Given the description of an element on the screen output the (x, y) to click on. 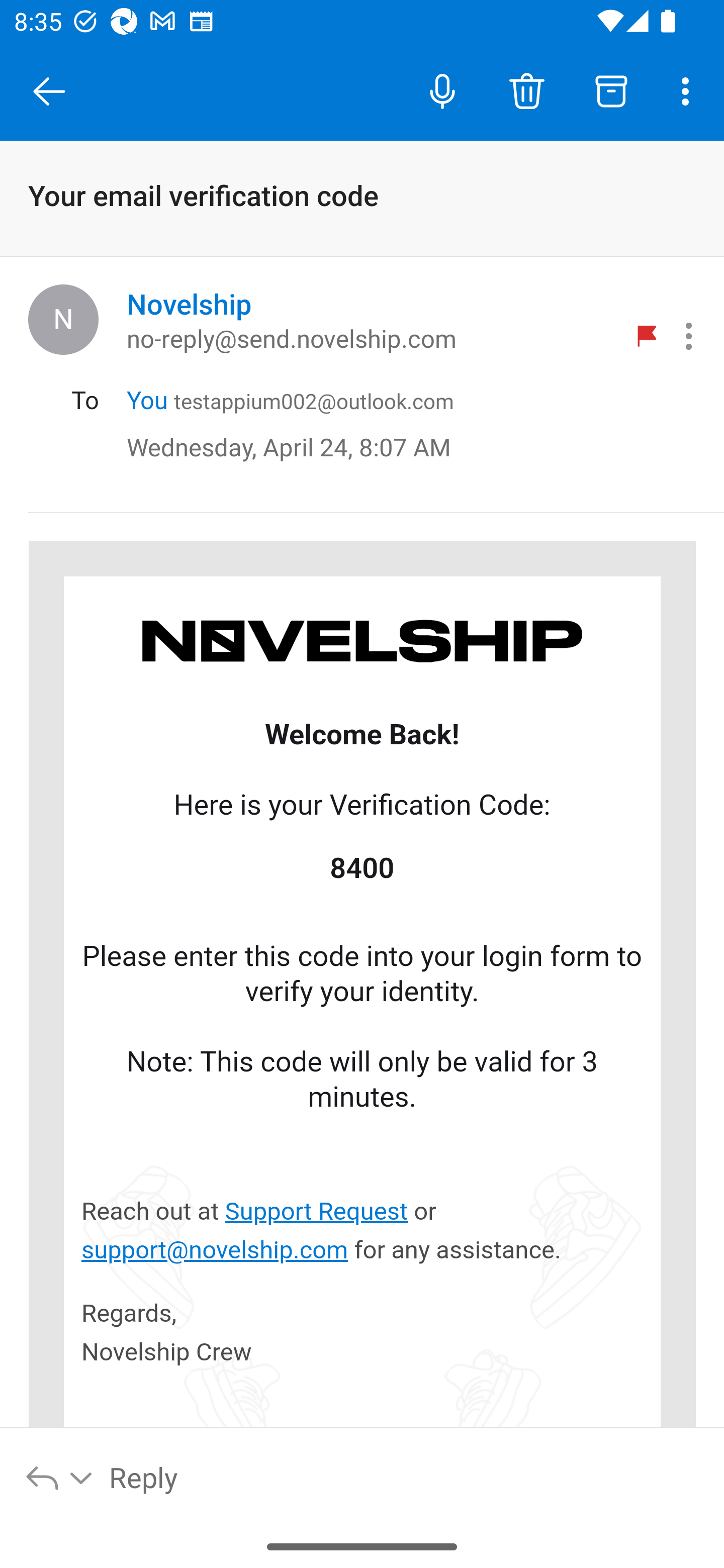
Close (49, 91)
Delete (526, 90)
Archive (611, 90)
More options (688, 90)
Novelship, no-reply@send.novelship.com (63, 318)
Novelship 
no-reply@send.novelship.com (372, 318)
Message actions (688, 336)
Support Request (316, 1210)
support@novelship.com (214, 1249)
Reply options (59, 1476)
